Given the description of an element on the screen output the (x, y) to click on. 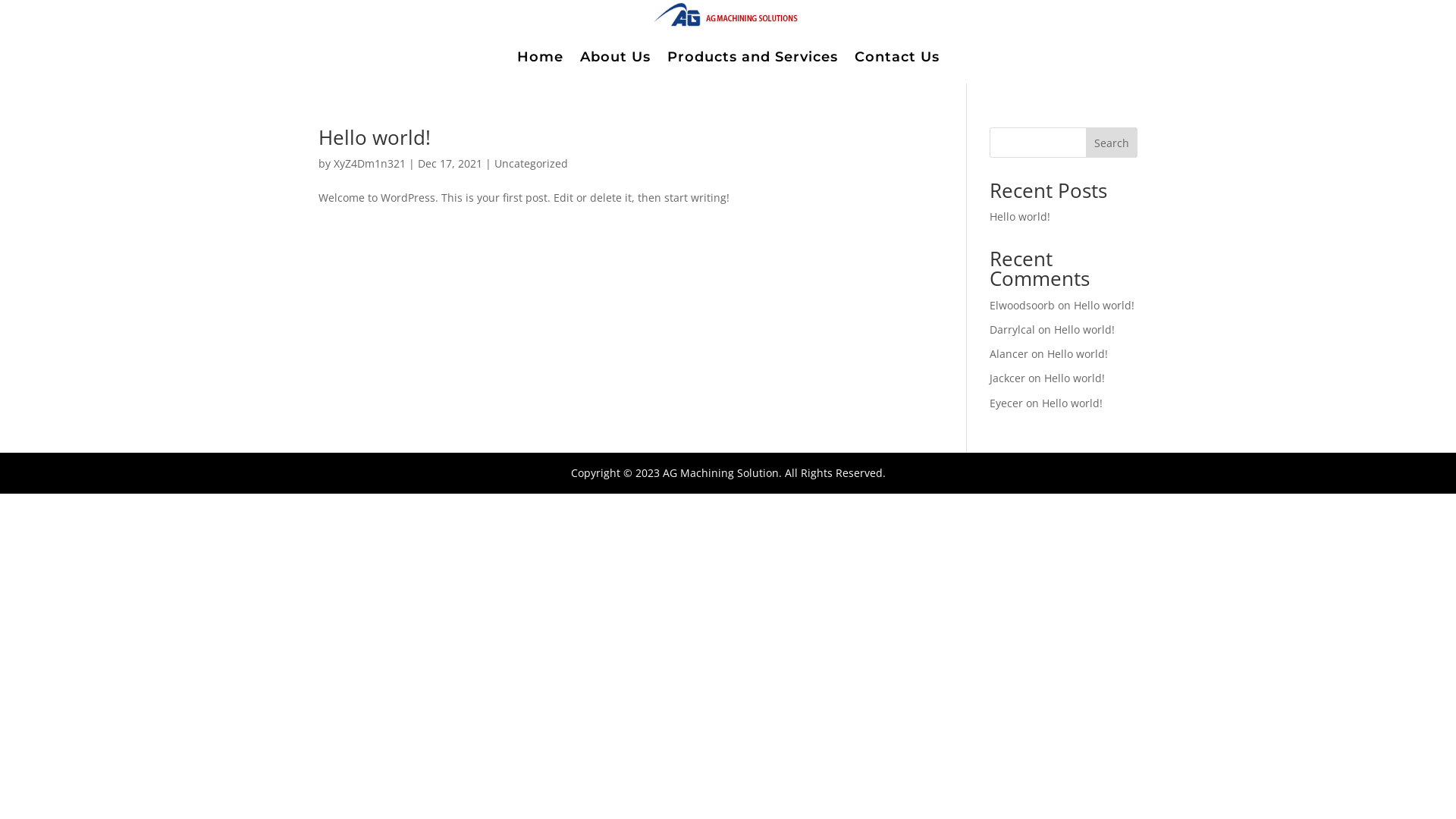
Alancer Element type: text (1008, 353)
Hello world! Element type: text (1071, 402)
Elwoodsoorb Element type: text (1021, 305)
Uncategorized Element type: text (530, 163)
Hello world! Element type: text (1077, 353)
Home Element type: text (540, 56)
Search Element type: text (1111, 142)
Darrylcal Element type: text (1012, 329)
Hello world! Element type: text (1019, 216)
Hello world! Element type: text (1074, 377)
Jackcer Element type: text (1007, 377)
Products and Services Element type: text (752, 56)
Hello world! Element type: text (374, 136)
XyZ4Dm1n321 Element type: text (369, 163)
Hello world! Element type: text (1084, 329)
Eyecer Element type: text (1005, 402)
Hello world! Element type: text (1103, 305)
About Us Element type: text (614, 56)
Contact Us Element type: text (895, 56)
